Given the description of an element on the screen output the (x, y) to click on. 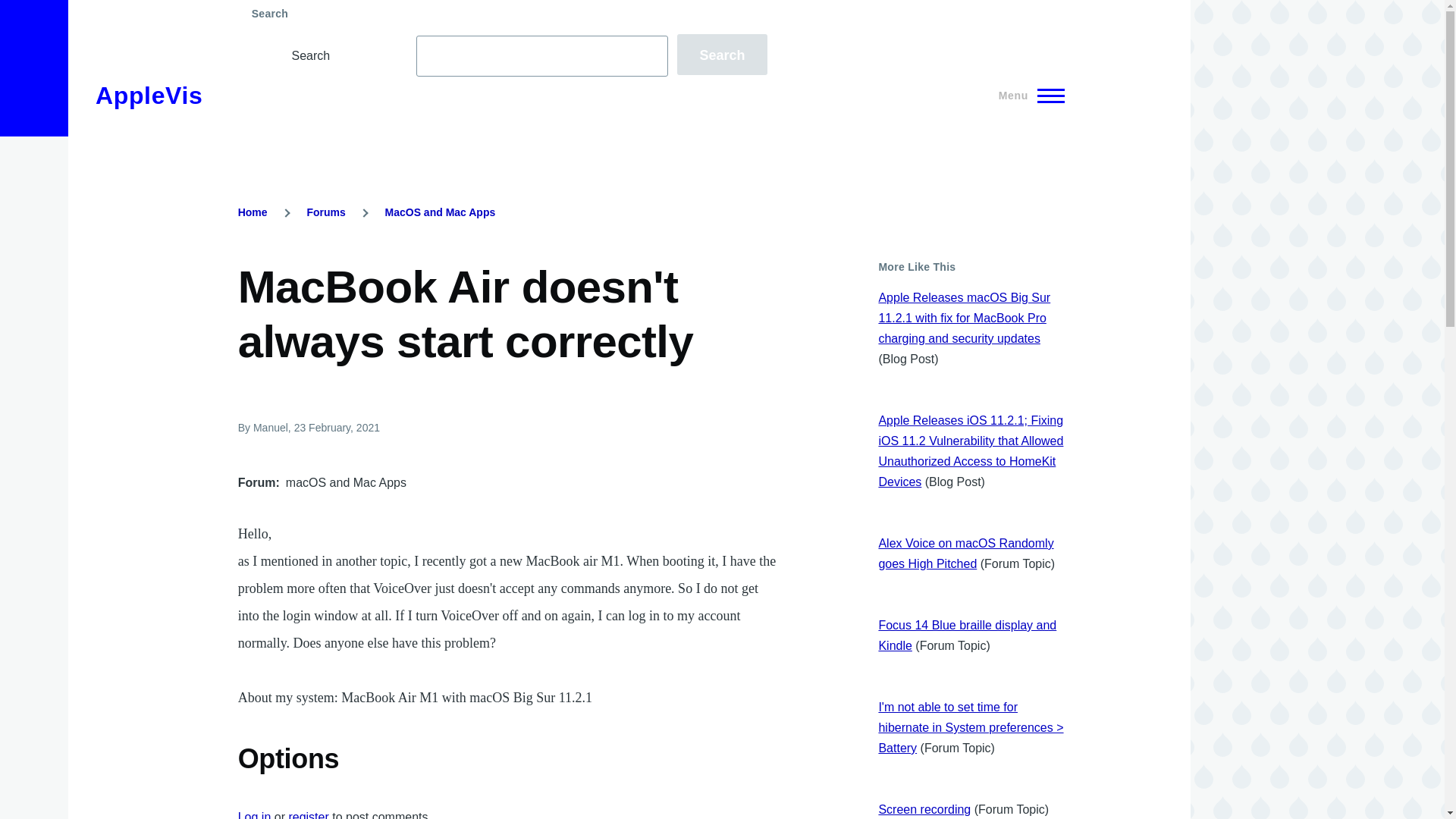
register (308, 814)
MacOS and Mac Apps (440, 212)
Menu (1026, 94)
Alex Voice on macOS Randomly goes High Pitched (964, 553)
Home (149, 94)
Log in (254, 814)
Search (722, 54)
Focus 14 Blue braille display and Kindle (967, 635)
AppleVis (149, 94)
Skip to main content (595, 6)
Screen recording (924, 809)
Forums (325, 212)
Home (252, 212)
